Given the description of an element on the screen output the (x, y) to click on. 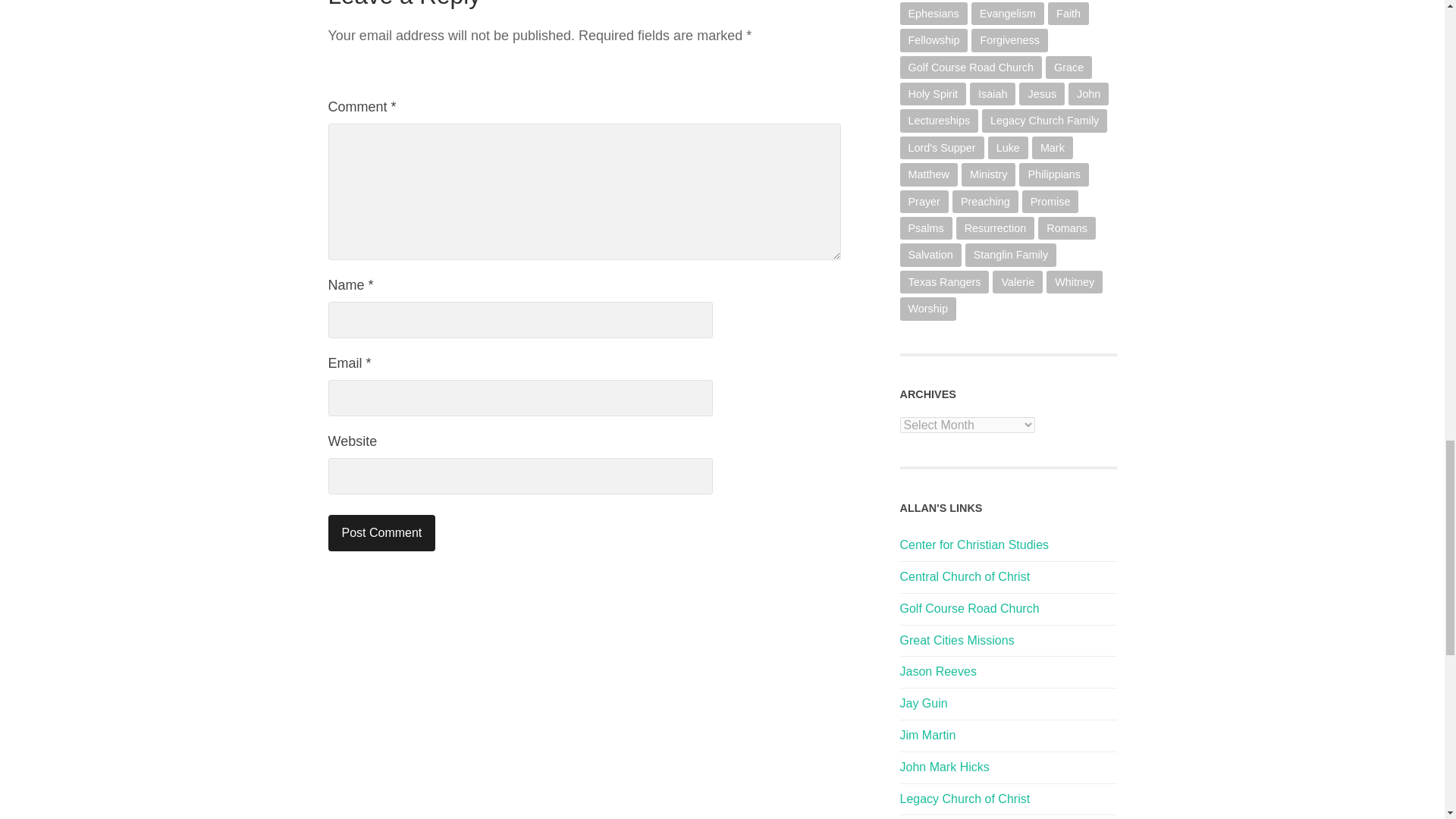
God Hungry (927, 735)
Legacy Church of Christ in North Richland Hills, Texas (964, 798)
John Mark Hicks Ministries (943, 766)
Post Comment (381, 533)
Equipping and Encouraging Missionaries and Church Planters (956, 640)
GCR Church (969, 608)
CCS (973, 544)
Post Comment (381, 533)
Central Church of Christ in Amarillo, Texas (964, 576)
One in Jesus (923, 703)
